Given the description of an element on the screen output the (x, y) to click on. 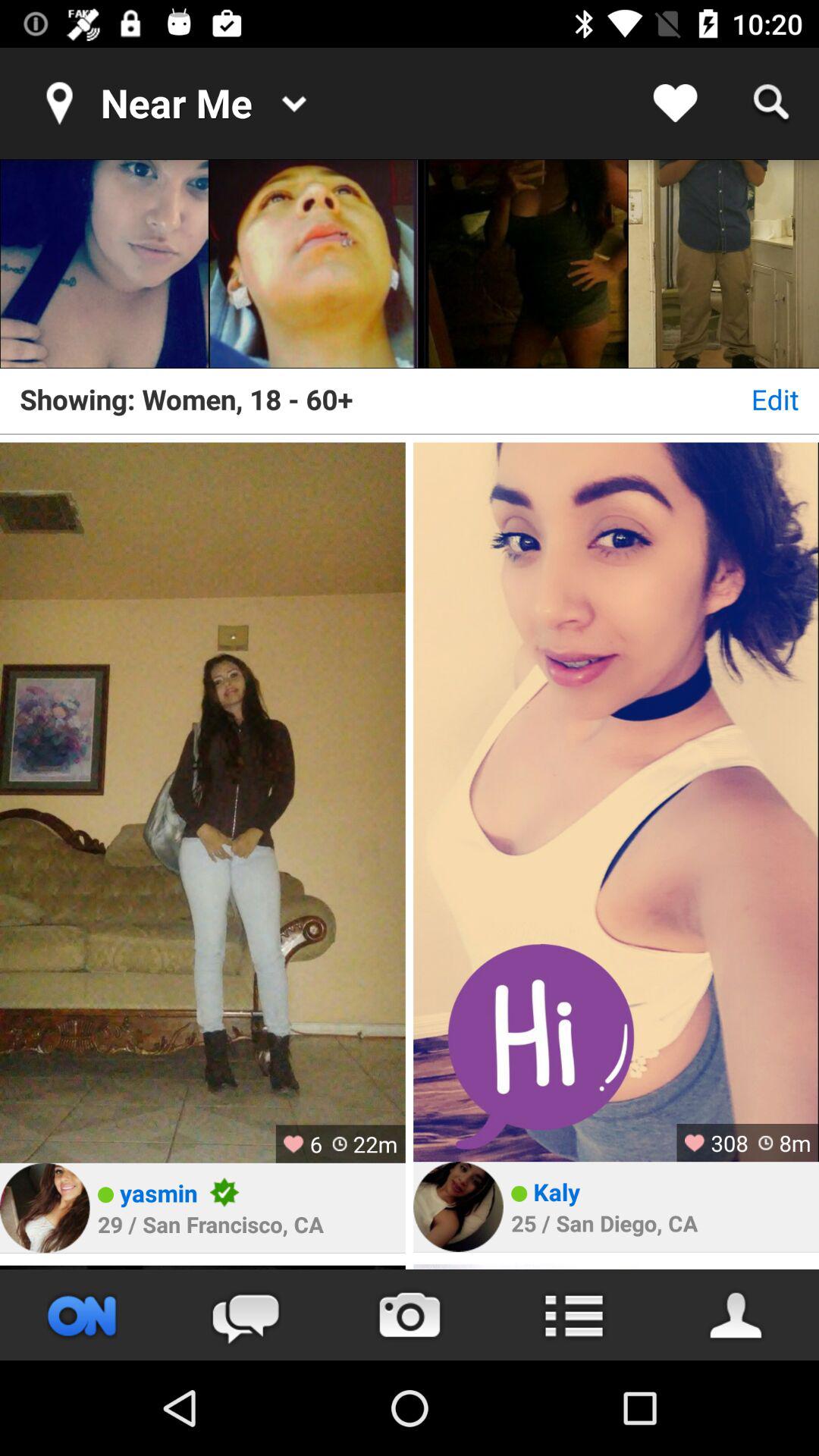
turn on the item above the 29 san francisco item (158, 1192)
